Given the description of an element on the screen output the (x, y) to click on. 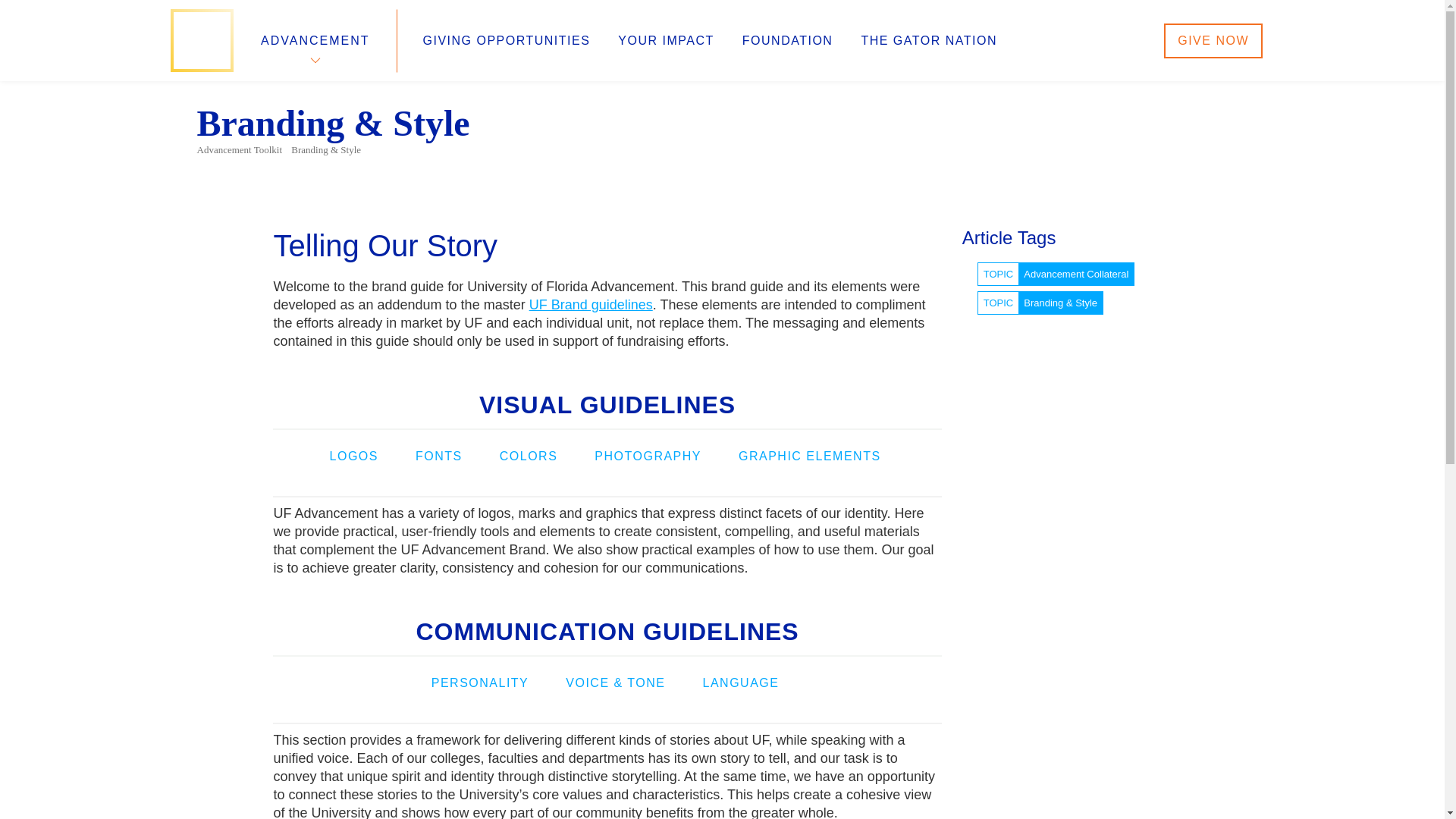
Advancement Toolkit (239, 149)
GIVING OPPORTUNITIES (507, 40)
LANGUAGE (740, 682)
TOPICAdvancement Collateral (1055, 272)
COLORS (528, 456)
PERSONALITY (480, 682)
UF Brand guidelines (590, 304)
LOGOS (354, 456)
YOUR IMPACT (665, 40)
FONTS (438, 456)
